Given the description of an element on the screen output the (x, y) to click on. 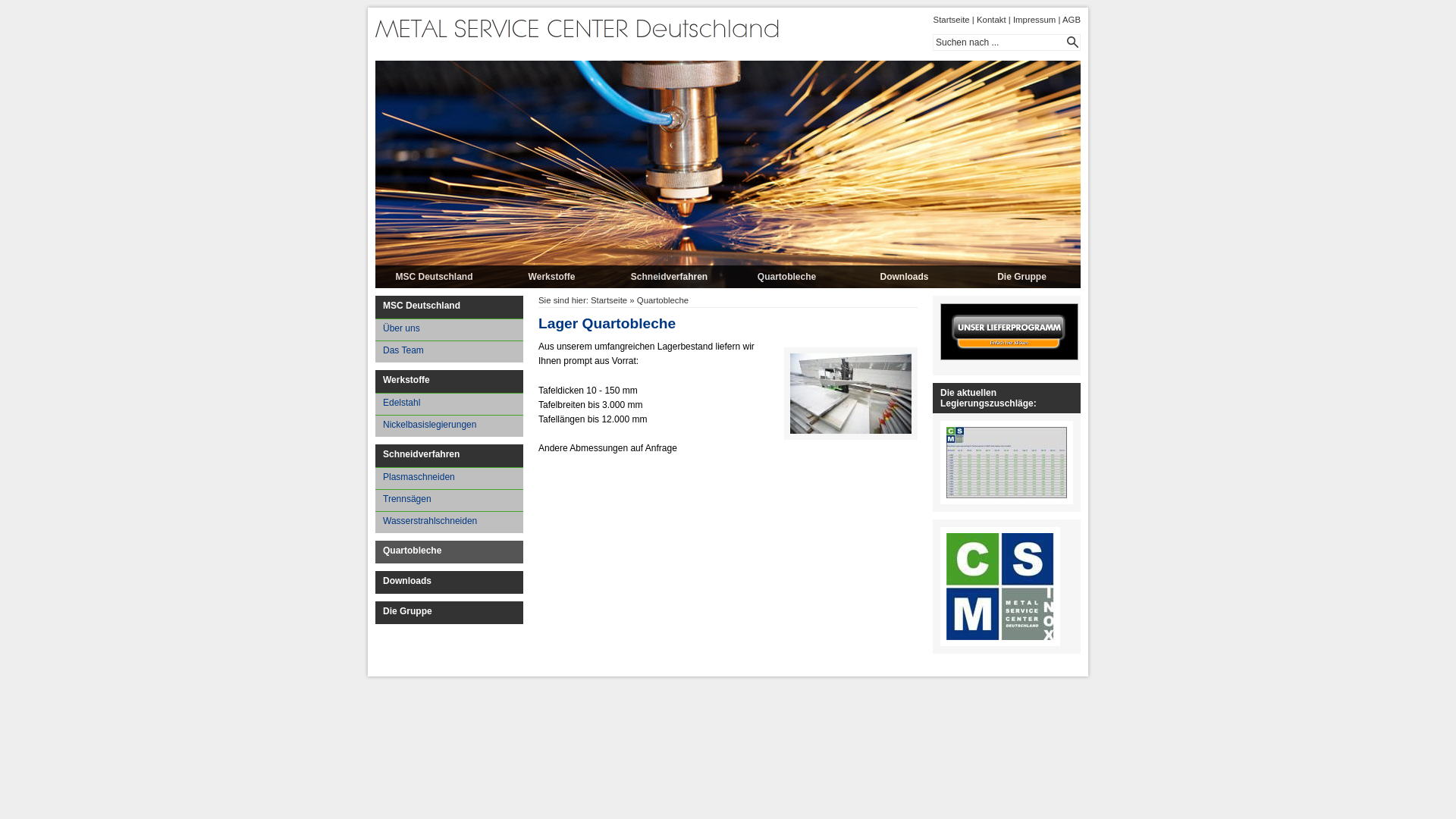
Werkstoffe Element type: text (551, 276)
Kontakt Element type: text (991, 19)
Impressum Element type: text (1034, 19)
Die Gruppe Element type: text (449, 612)
Quartobleche Element type: text (662, 299)
Schneidverfahren Element type: text (669, 276)
Startseite Element type: text (951, 19)
Die Gruppe Element type: text (1021, 276)
Downloads Element type: text (904, 276)
AGB Element type: text (1071, 19)
Startseite Element type: text (608, 299)
Schneidverfahren Element type: text (449, 455)
Quartobleche Element type: text (449, 551)
MSC Deutschland Element type: text (433, 276)
MSC Deutschland Element type: text (449, 306)
Werkstoffe Element type: text (449, 381)
Quartobleche Element type: text (786, 276)
Downloads Element type: text (449, 582)
Wasserstrahlschneiden Element type: text (449, 522)
Das Team Element type: text (449, 351)
Edelstahl Element type: text (449, 403)
Nickelbasislegierungen Element type: text (449, 425)
Plasmaschneiden Element type: text (449, 478)
